Given the description of an element on the screen output the (x, y) to click on. 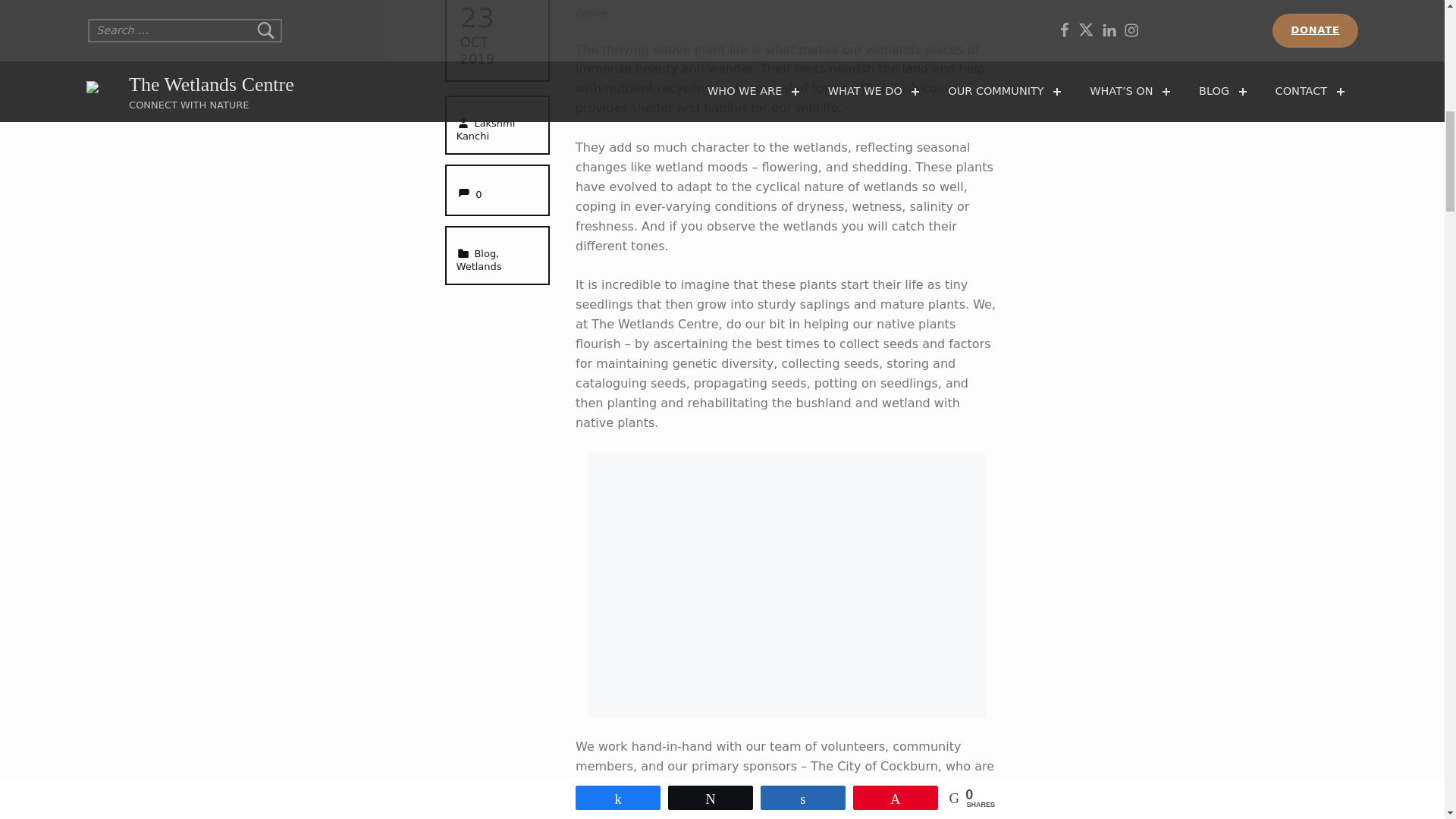
Comments: 0 (469, 194)
